Given the description of an element on the screen output the (x, y) to click on. 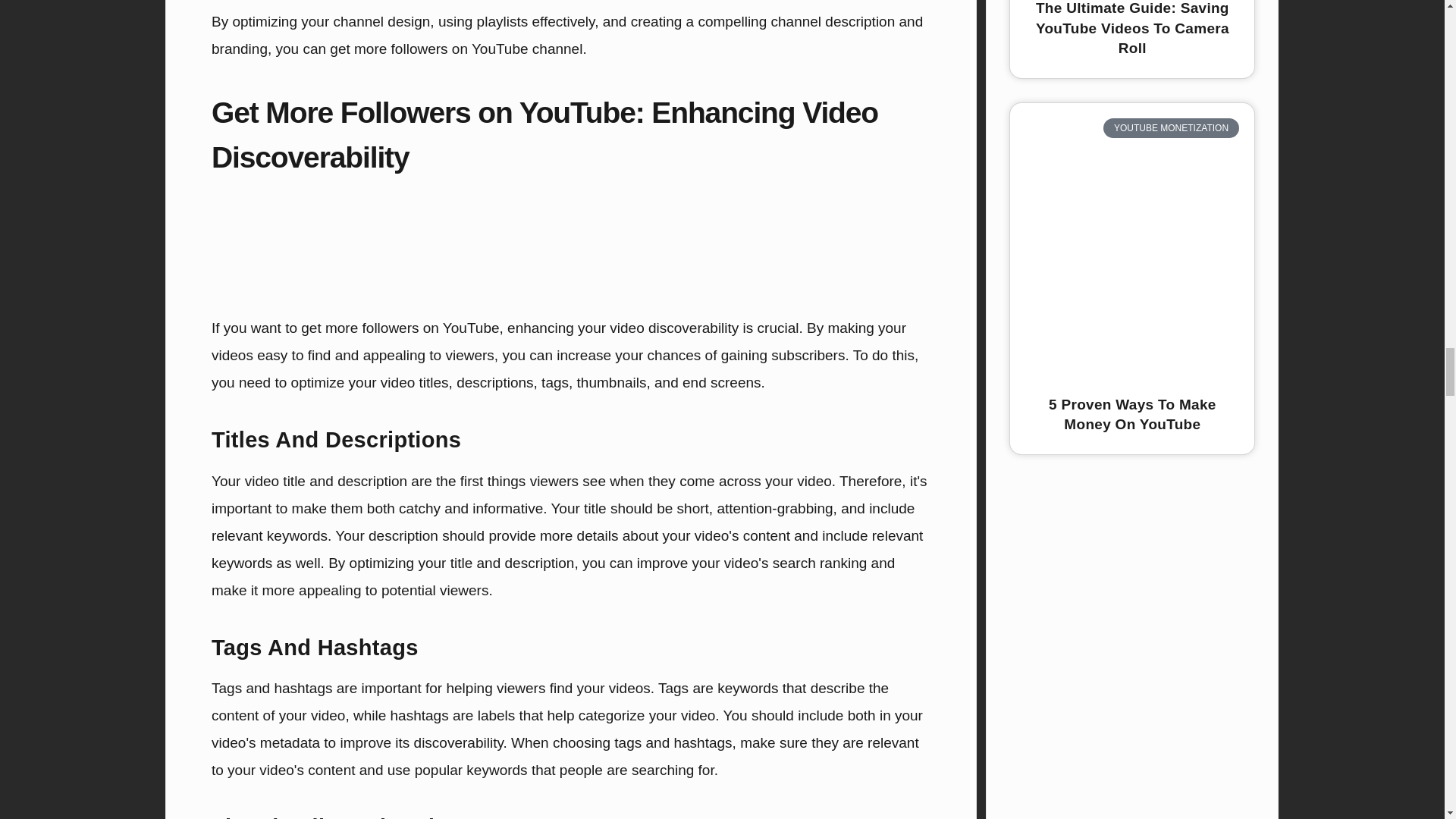
search ranking (820, 562)
tags and hashtags (673, 742)
appealing to viewers (428, 355)
end screens (721, 382)
enhancing your video discoverability (622, 327)
